Given the description of an element on the screen output the (x, y) to click on. 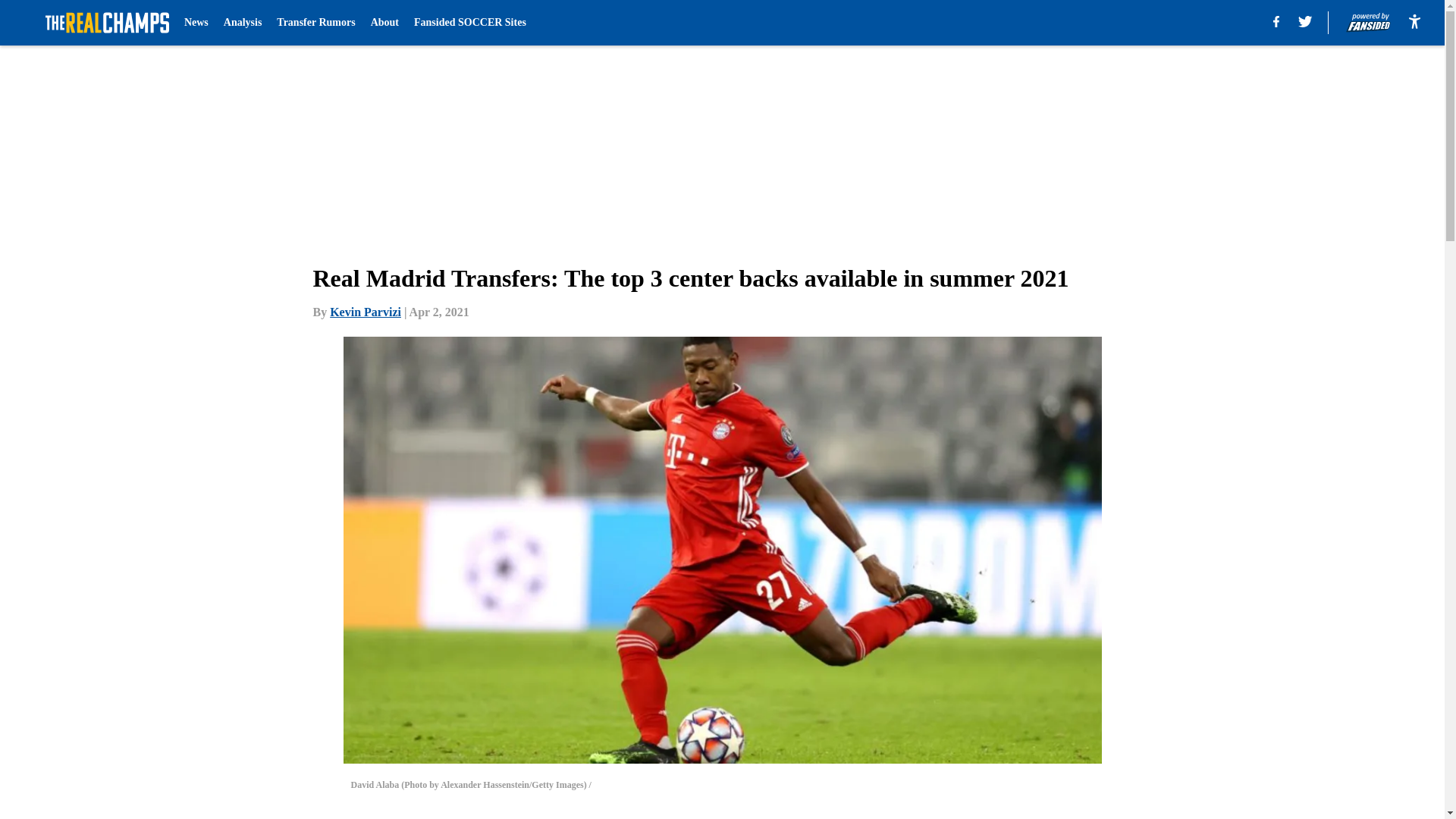
Fansided SOCCER Sites (469, 22)
News (196, 22)
Kevin Parvizi (365, 311)
Transfer Rumors (315, 22)
Analysis (243, 22)
About (384, 22)
